Given the description of an element on the screen output the (x, y) to click on. 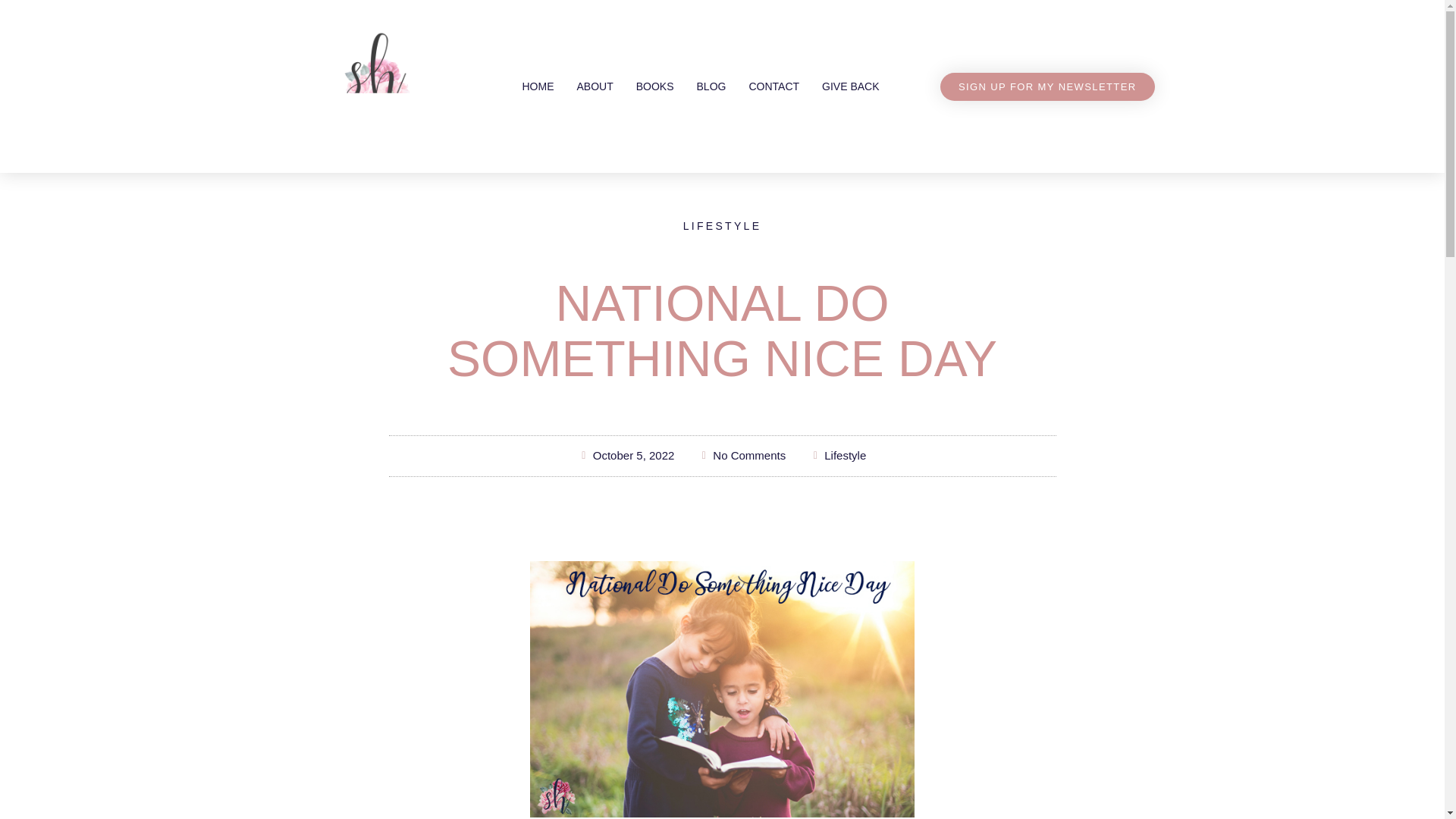
No Comments (742, 456)
Lifestyle (845, 454)
ABOUT (594, 85)
October 5, 2022 (626, 456)
CONTACT (773, 85)
BLOG (710, 85)
BOOKS (654, 85)
GIVE BACK (849, 85)
HOME (536, 85)
LIFESTYLE (721, 225)
